Given the description of an element on the screen output the (x, y) to click on. 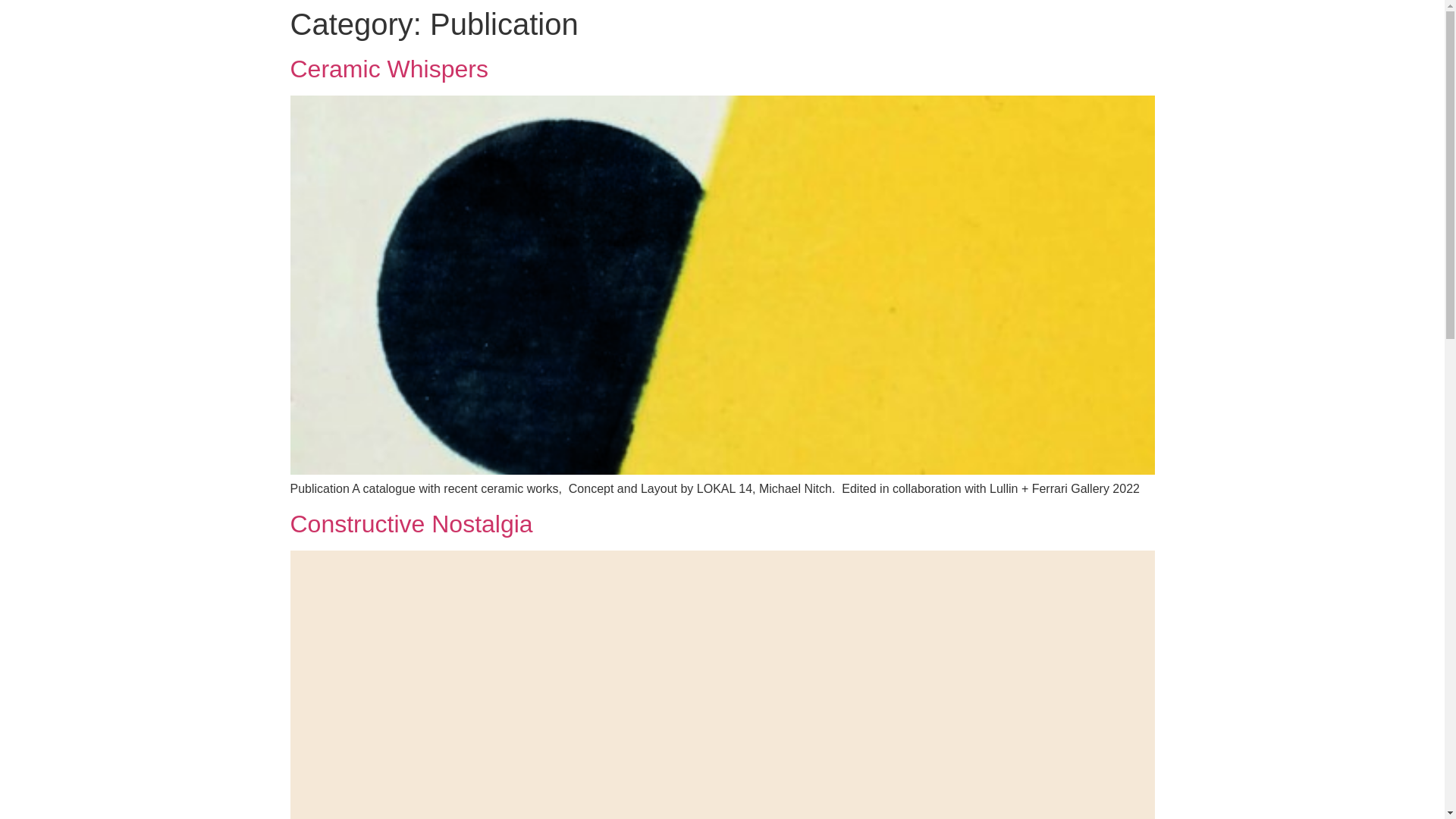
Constructive Nostalgia Element type: text (410, 523)
Ceramic Whispers Element type: text (388, 68)
